Given the description of an element on the screen output the (x, y) to click on. 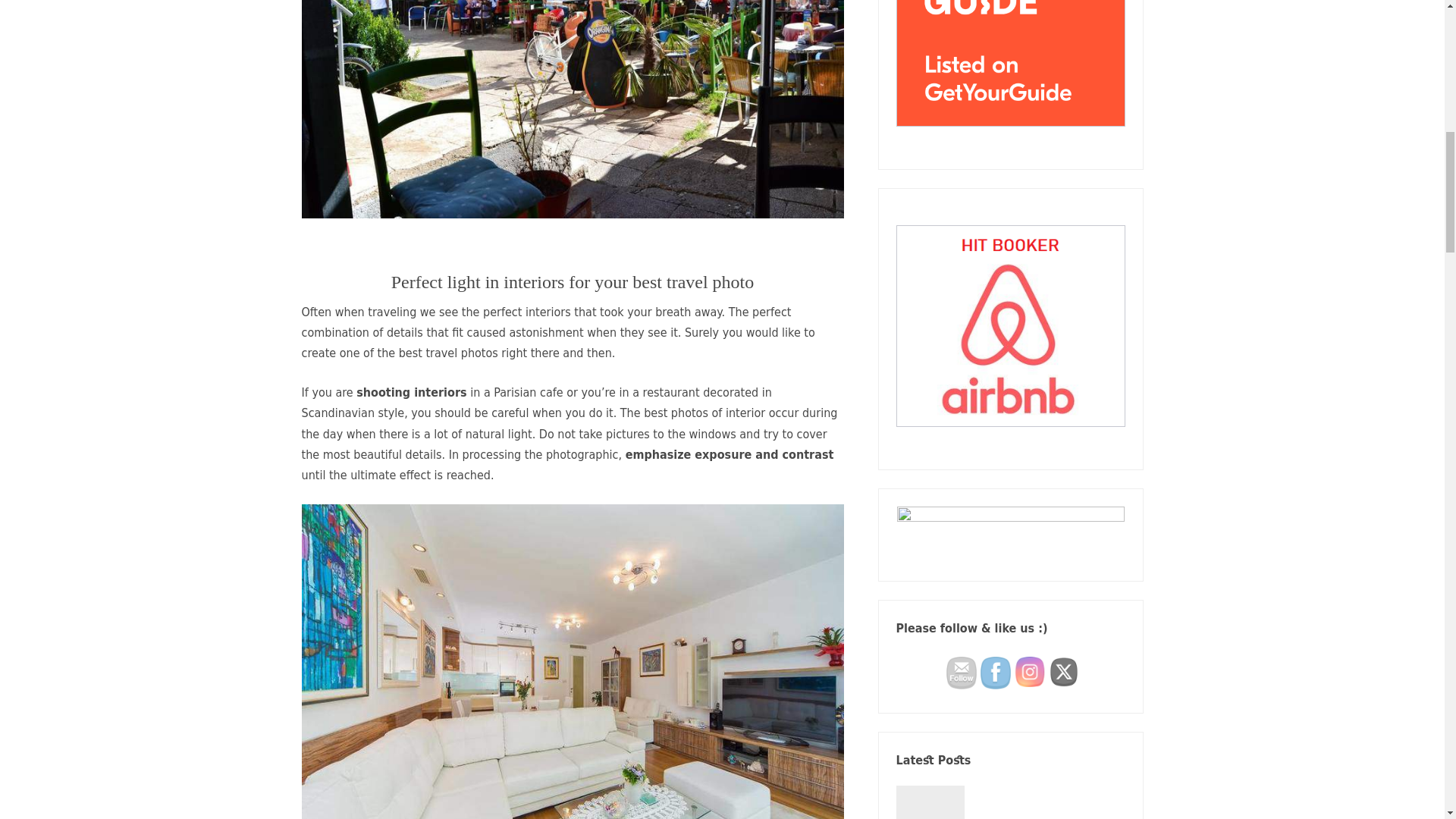
VISITBiH-LOGO 1 (1010, 534)
Follow by Email (961, 672)
Facebook (994, 672)
Instagram (1029, 671)
